Given the description of an element on the screen output the (x, y) to click on. 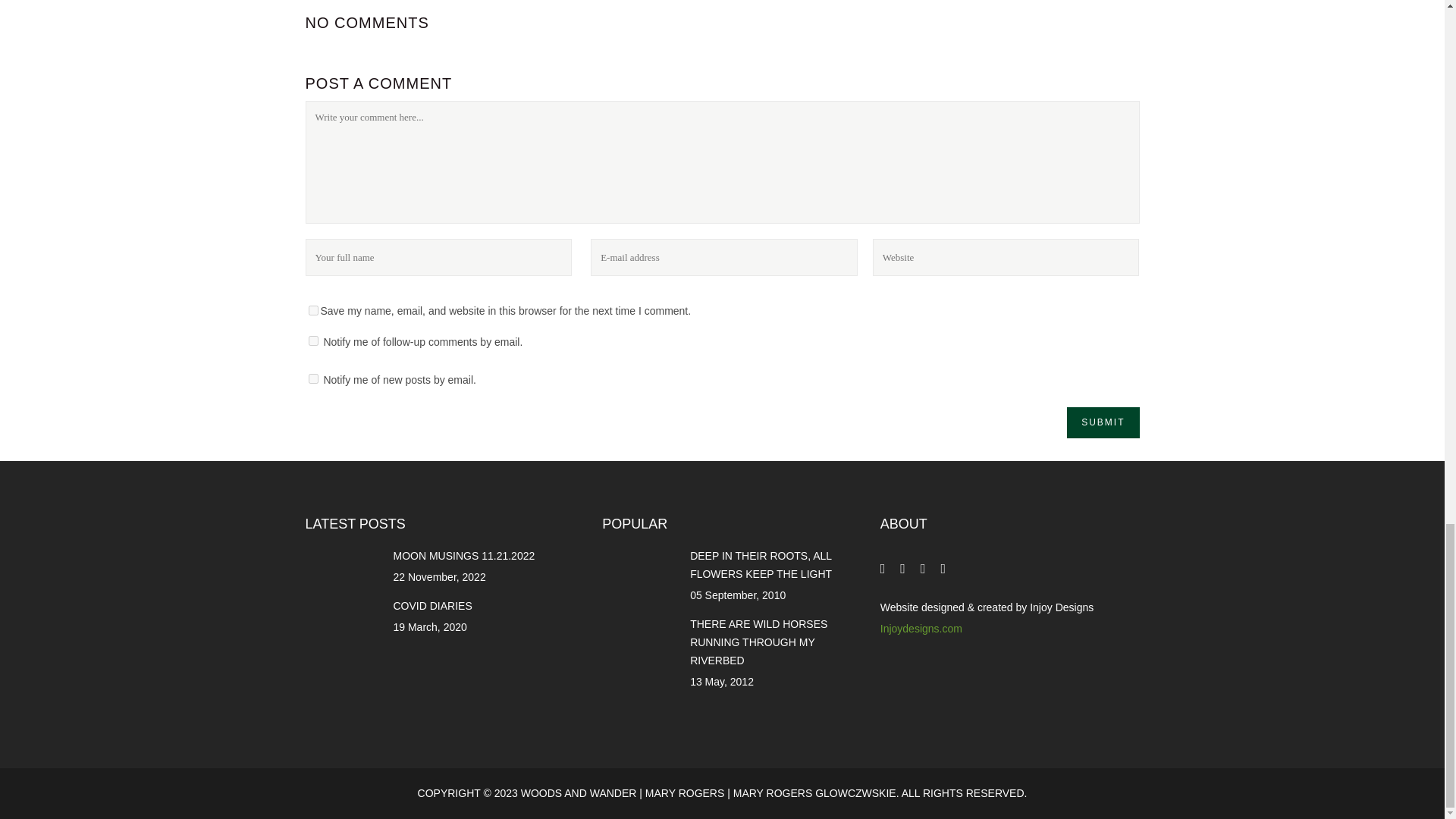
subscribe (312, 378)
Submit (1102, 422)
subscribe (312, 340)
yes (312, 310)
